Given the description of an element on the screen output the (x, y) to click on. 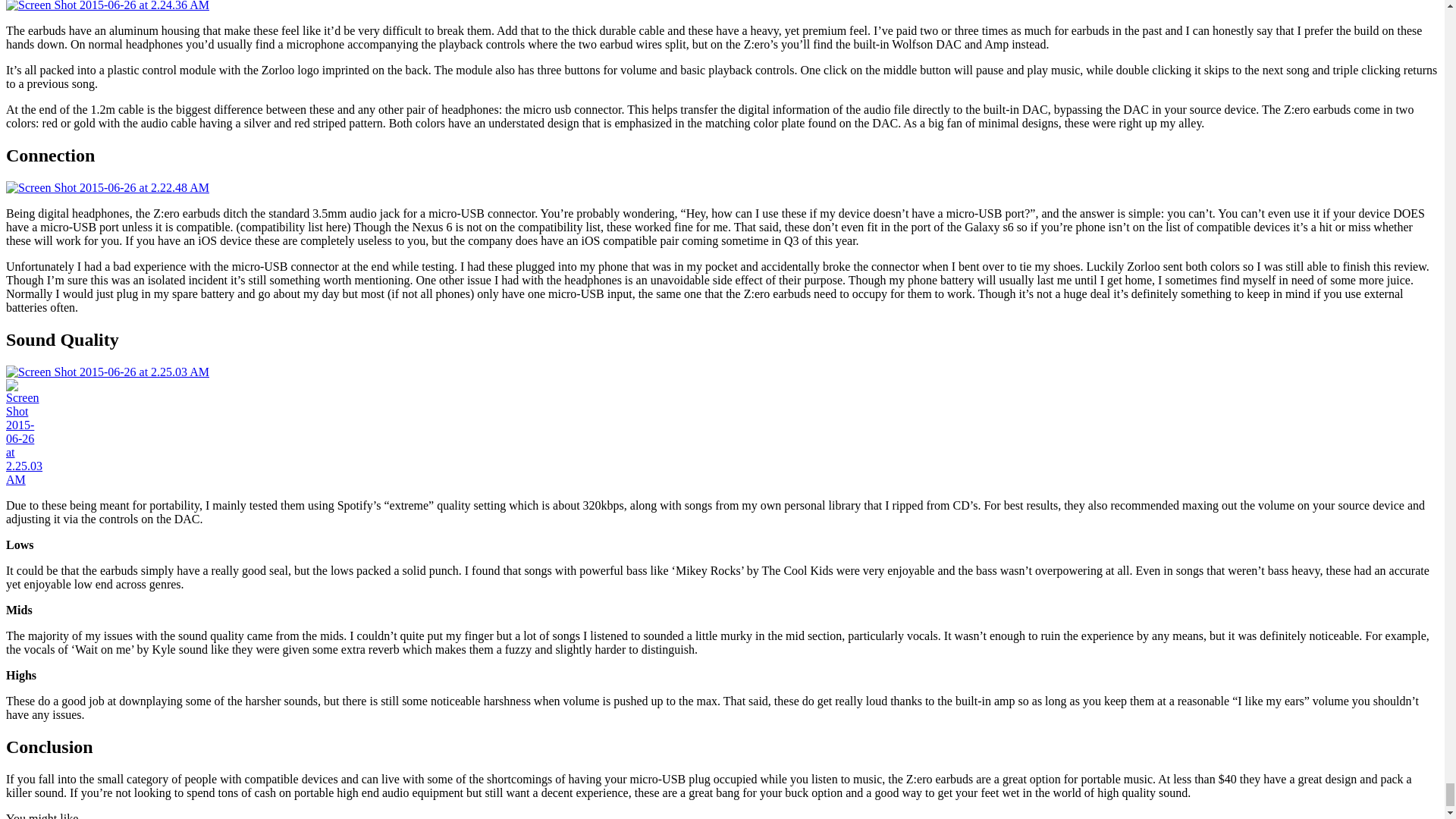
Screen Shot 2015-06-26 at 2.24.36 AM (107, 6)
Screen Shot 2015-06-26 at 2.25.03 AM (23, 432)
Screen Shot 2015-06-26 at 2.25.03 AM (107, 372)
Screen Shot 2015-06-26 at 2.22.48 AM (107, 187)
